Given the description of an element on the screen output the (x, y) to click on. 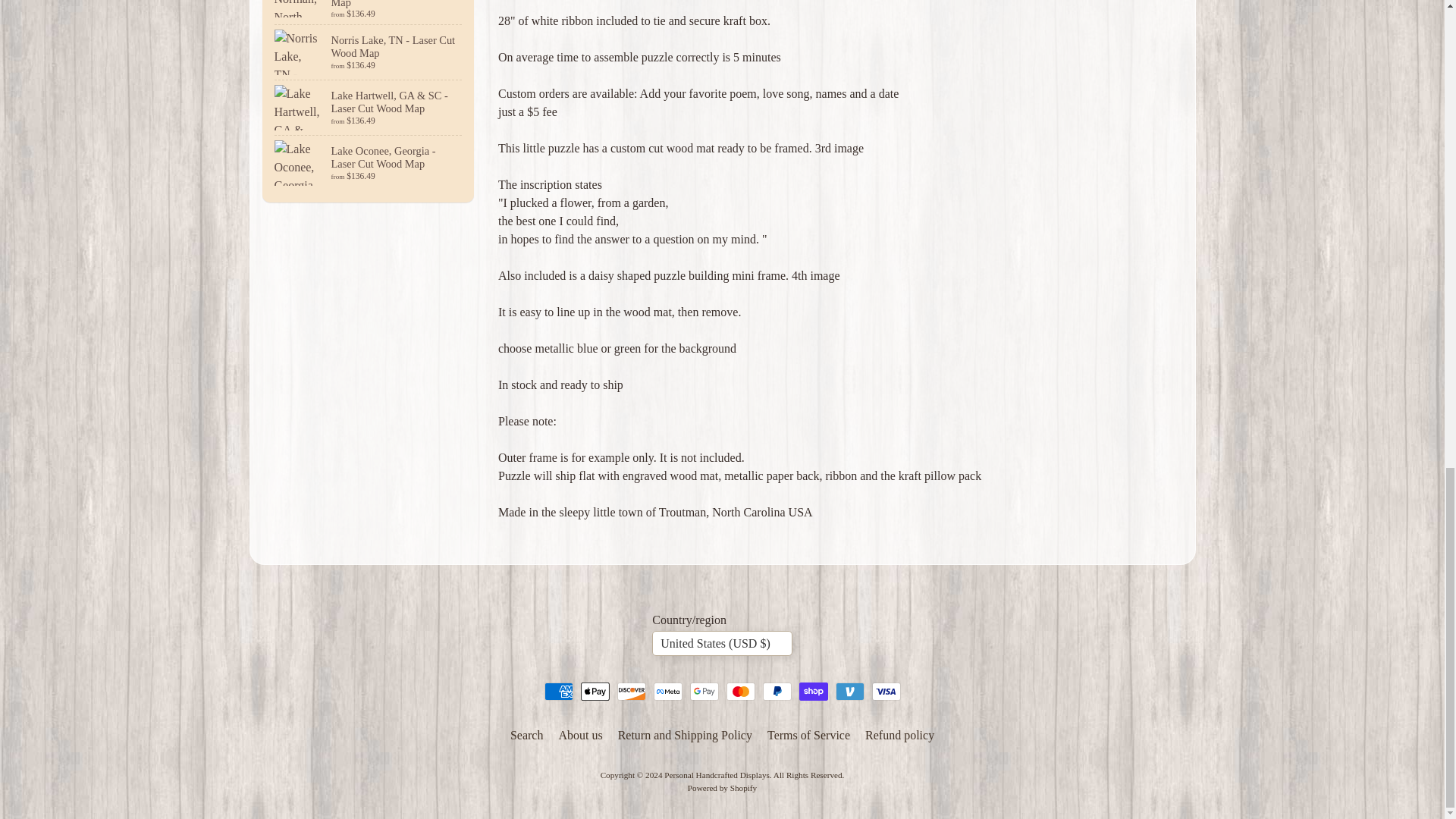
Lake Oconee, Georgia - Laser Cut Wood Map (369, 162)
Venmo (849, 691)
PayPal (777, 691)
Shop Pay (813, 691)
Google Pay (704, 691)
Lake Norman, North Carolina - Laser Cut Wood Map (369, 12)
Mastercard (740, 691)
Apple Pay (595, 691)
American Express (558, 691)
Meta Pay (667, 691)
Discover (631, 691)
Norris Lake, TN - Laser Cut Wood Map (369, 52)
Visa (886, 691)
